Given the description of an element on the screen output the (x, y) to click on. 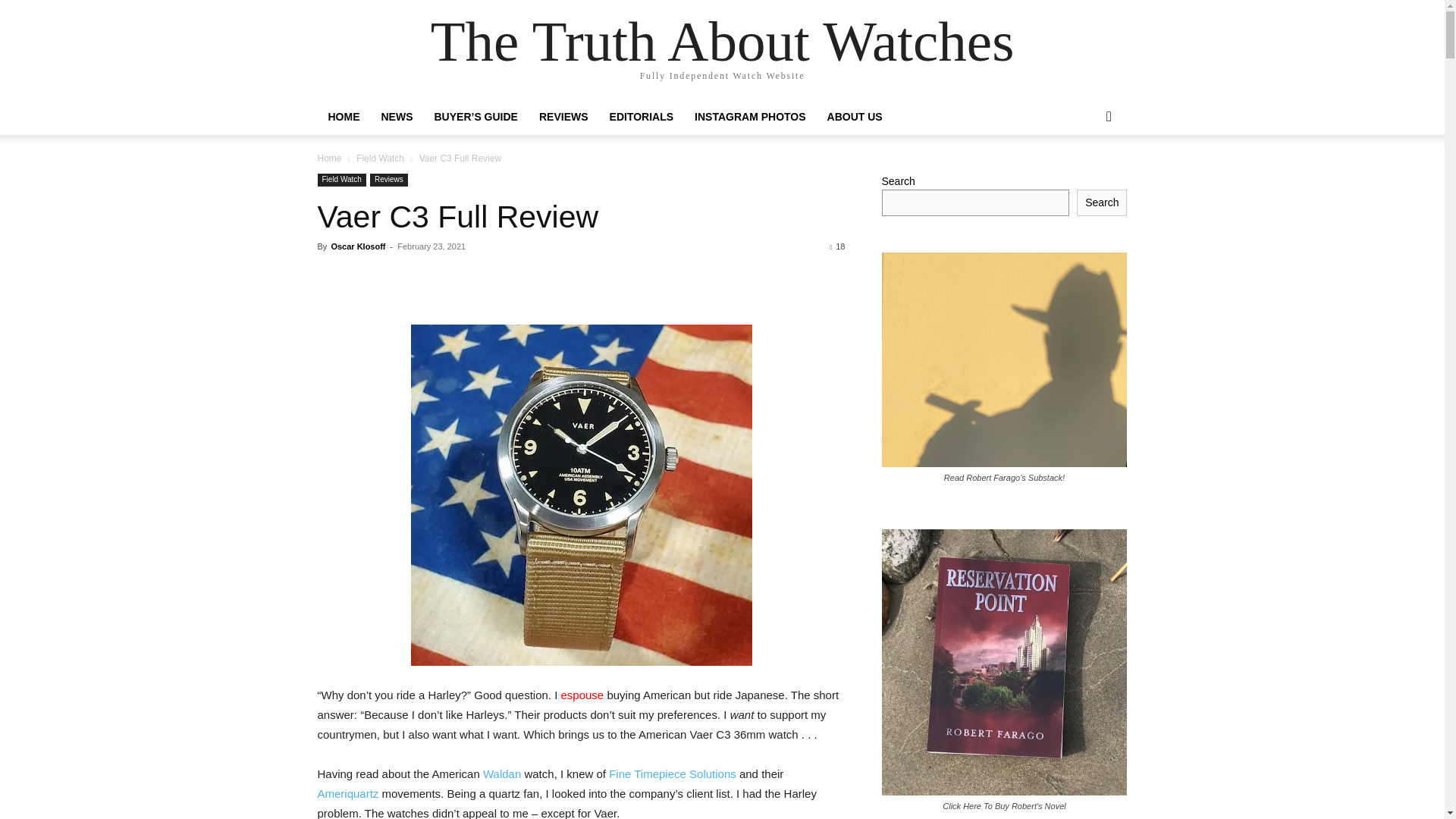
Field Watch (341, 179)
Search (1085, 177)
Home (328, 158)
18 (837, 245)
INSTAGRAM PHOTOS (750, 116)
NEWS (396, 116)
Oscar Klosoff (357, 245)
EDITORIALS (641, 116)
View all posts in Field Watch (380, 158)
Reviews (388, 179)
REVIEWS (563, 116)
The Truth About Watches (722, 41)
Field Watch (380, 158)
ABOUT US (854, 116)
HOME (343, 116)
